Given the description of an element on the screen output the (x, y) to click on. 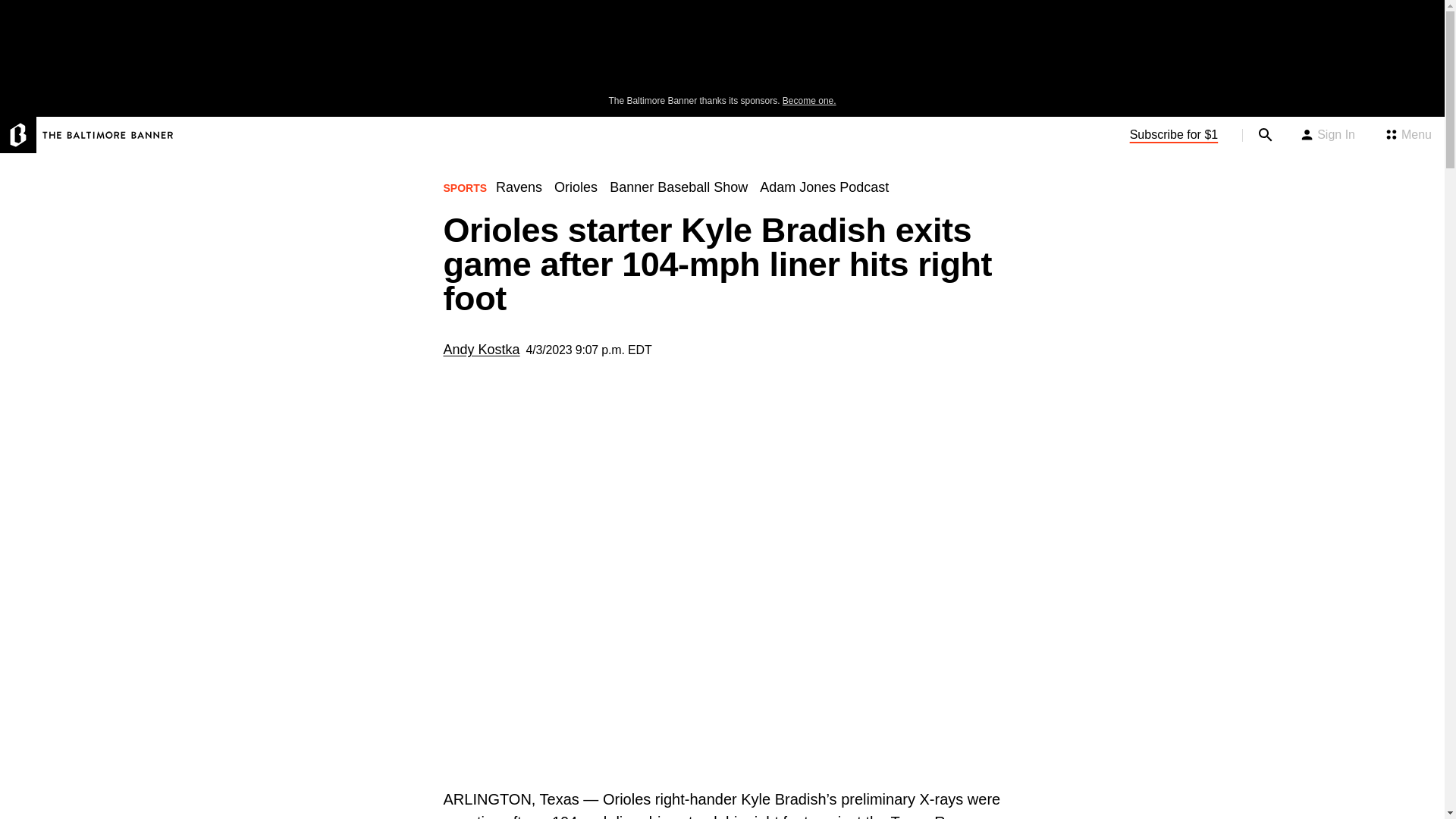
Sign In (1327, 135)
Become one. (809, 100)
SPORTSRavensOriolesBanner Baseball ShowAdam Jones Podcast (671, 192)
